Given the description of an element on the screen output the (x, y) to click on. 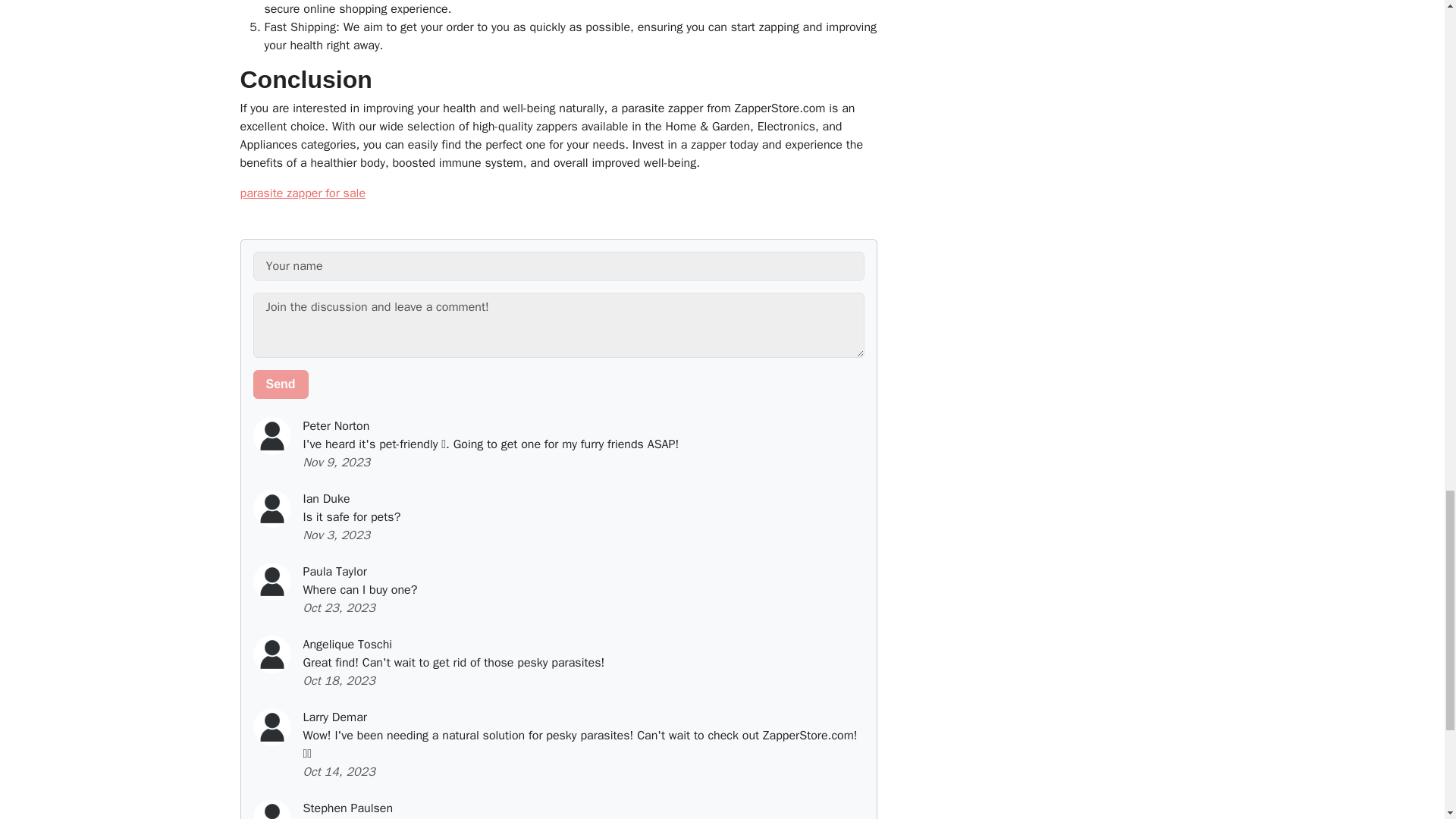
parasite zapper for sale (302, 192)
Send (280, 384)
Send (280, 384)
